Given the description of an element on the screen output the (x, y) to click on. 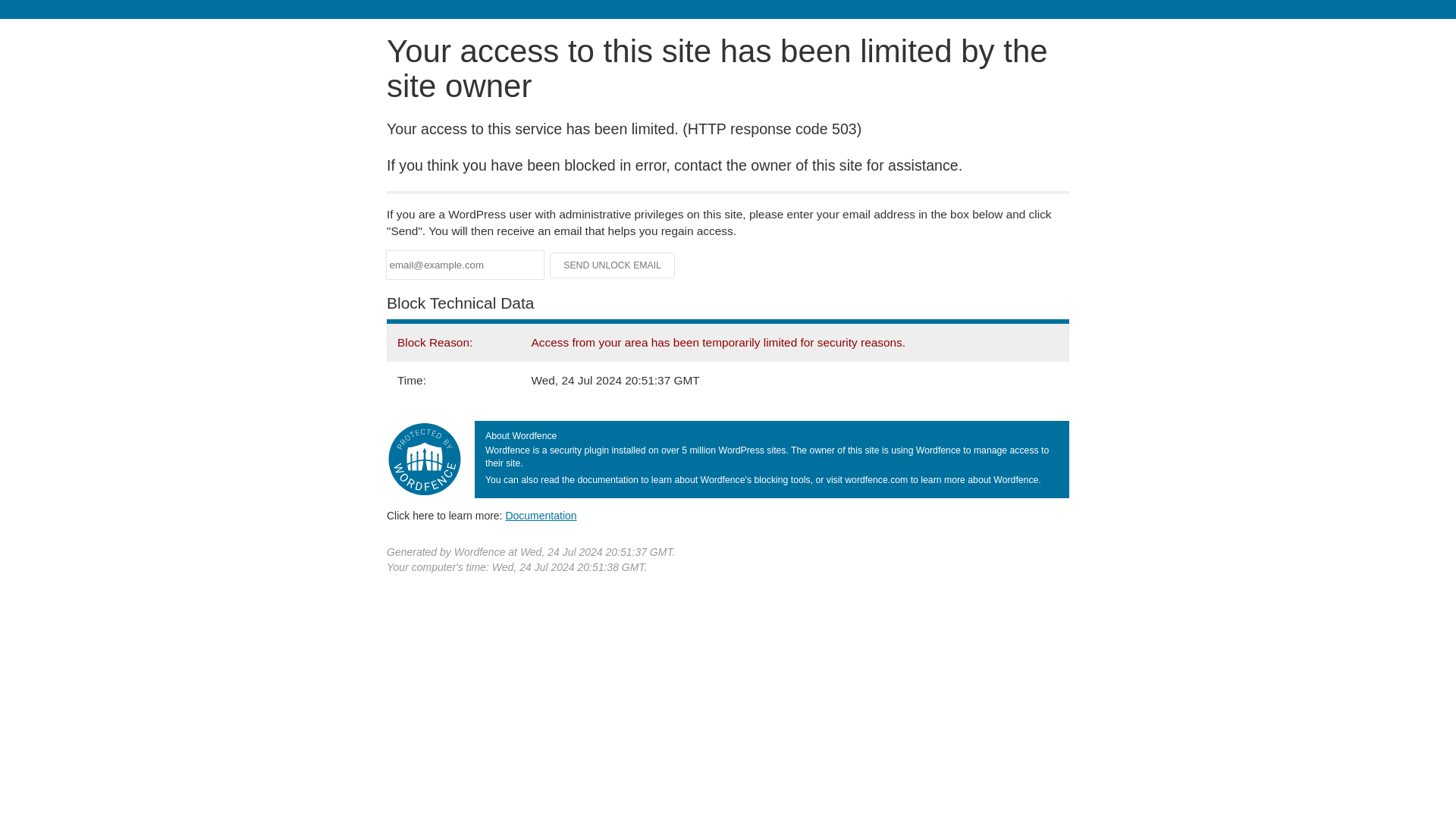
Documentation (540, 515)
Send Unlock Email (612, 265)
Send Unlock Email (612, 265)
